Given the description of an element on the screen output the (x, y) to click on. 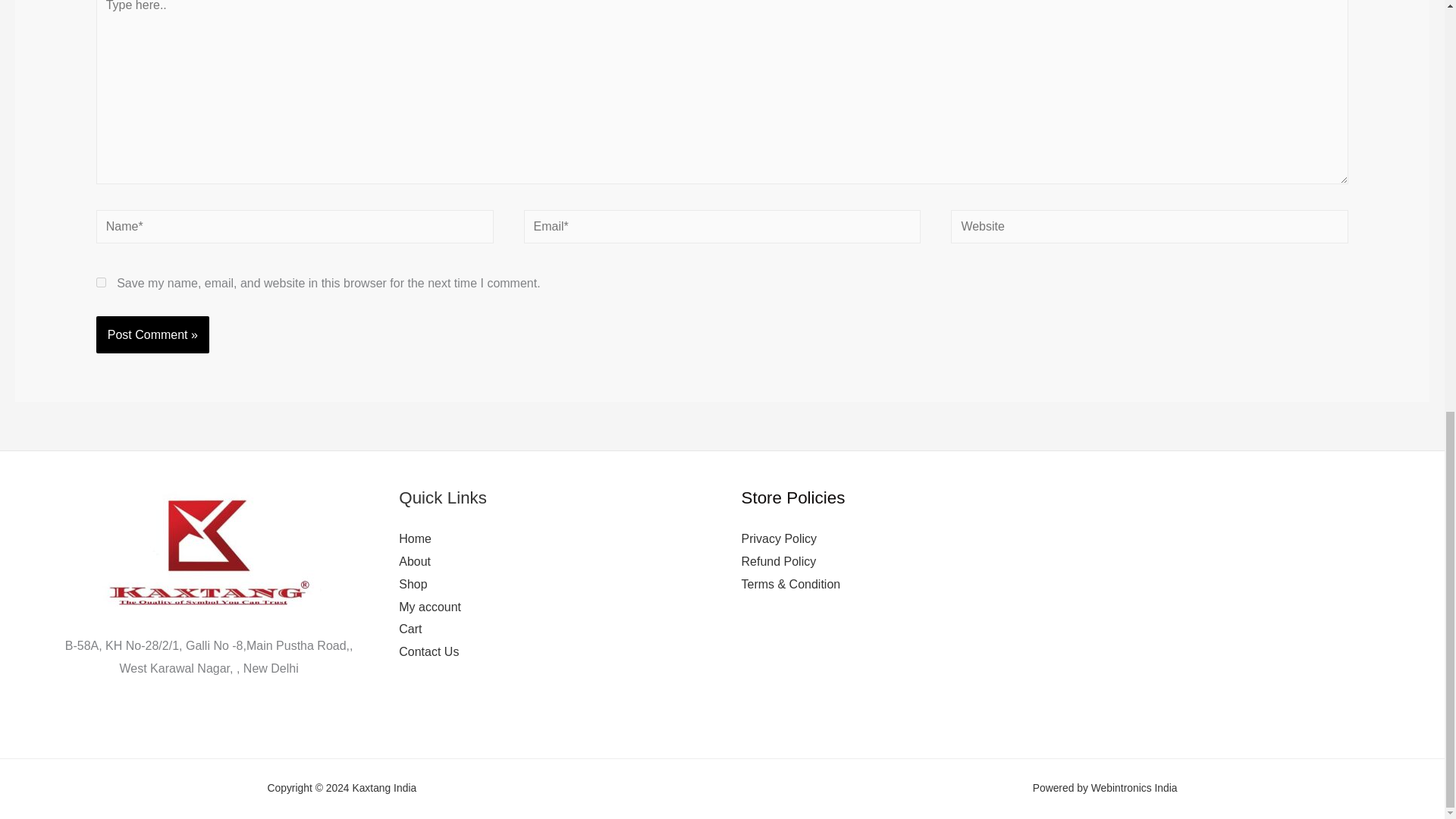
Shop (412, 584)
About (414, 561)
Cart (410, 628)
Contact Us (428, 651)
Refund Policy (778, 561)
yes (101, 282)
Home (414, 538)
My account (429, 606)
Privacy Policy (778, 538)
